Given the description of an element on the screen output the (x, y) to click on. 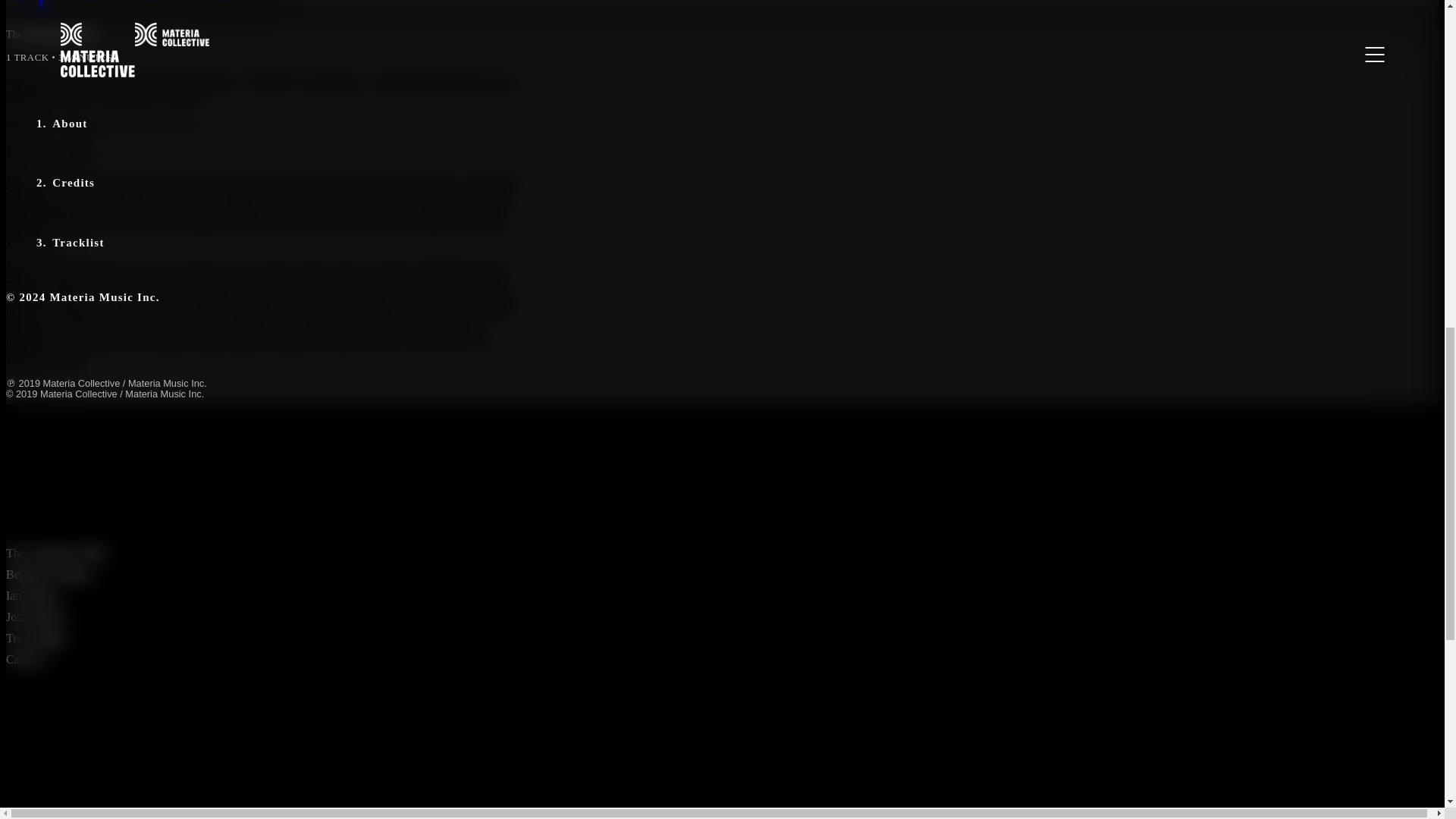
Ophelia's Vision artists and credits (263, 498)
Catboss. (26, 658)
Josh Barron (34, 616)
Bethany Overbey (47, 574)
Trey Hodge (34, 637)
Ian Martyn (33, 594)
The Travelers VGM (48, 34)
The Travelers VGM (54, 553)
